Given the description of an element on the screen output the (x, y) to click on. 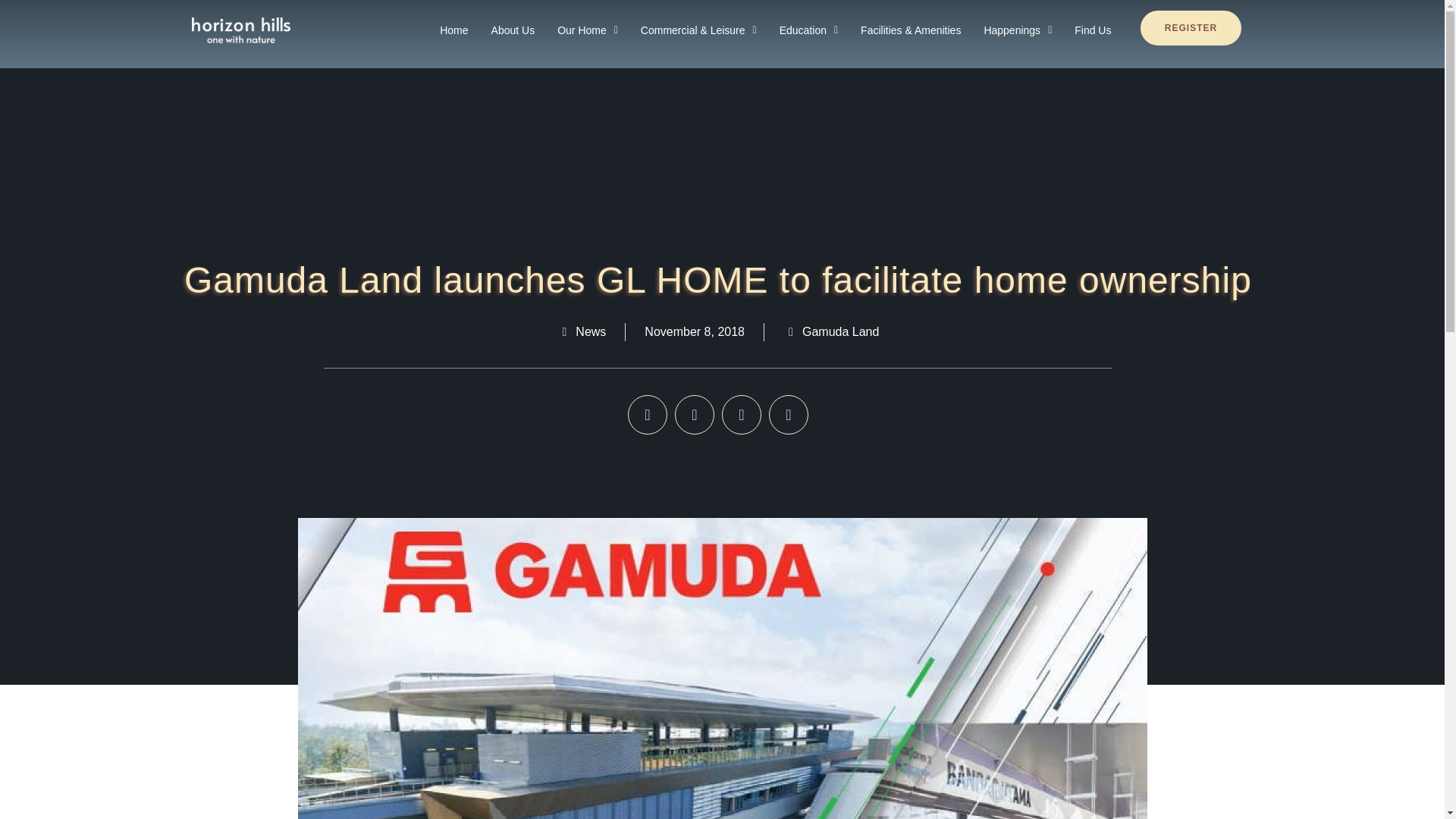
Our Home (587, 30)
About Us (513, 30)
Happenings (1017, 30)
Find Us (1092, 30)
Home (453, 30)
Education (808, 30)
